Given the description of an element on the screen output the (x, y) to click on. 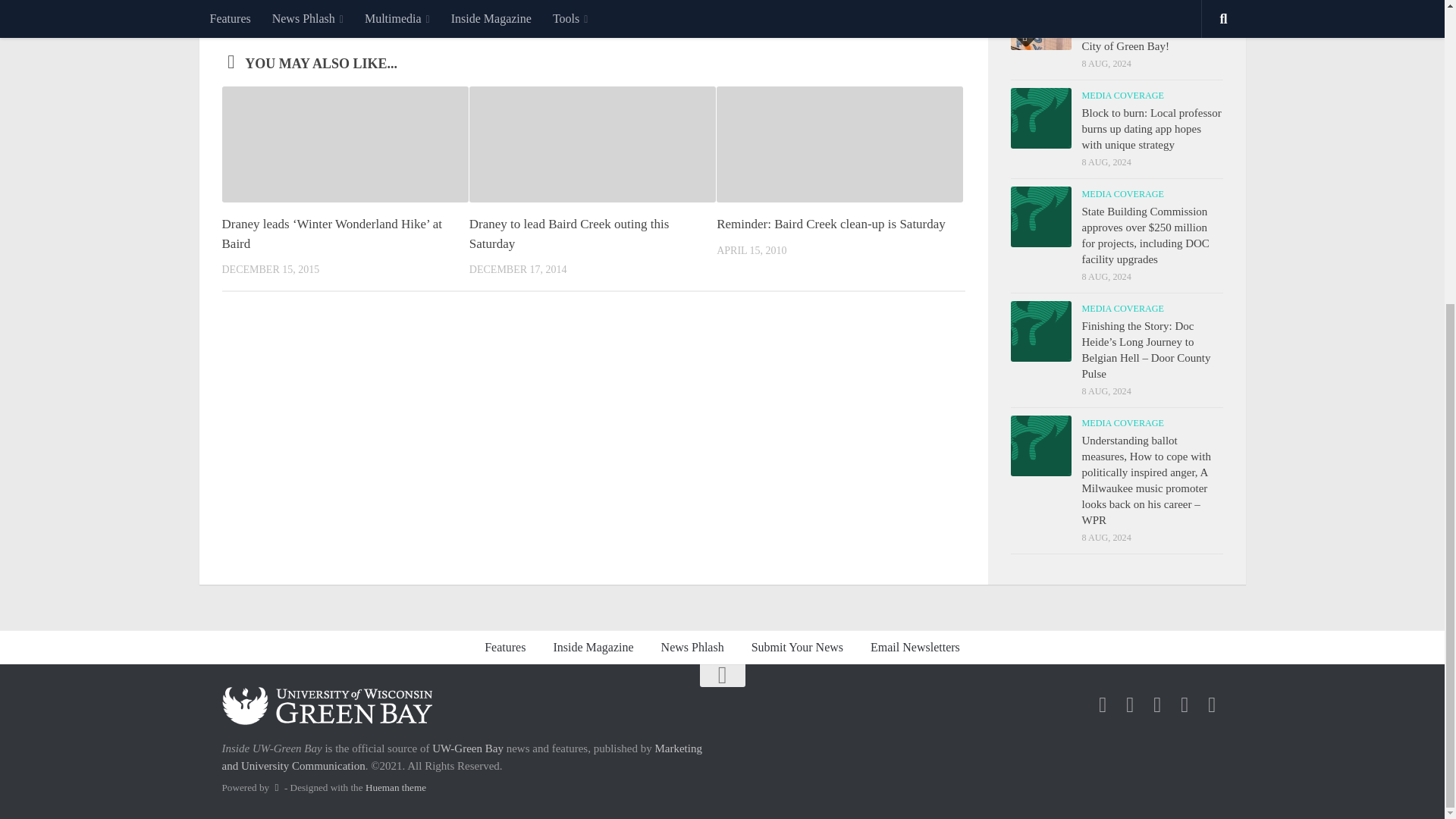
Draney to lead Baird Creek outing this Saturday (568, 233)
Baird Creek (280, 11)
Reminder: Baird Creek clean-up is Saturday (830, 223)
